Given the description of an element on the screen output the (x, y) to click on. 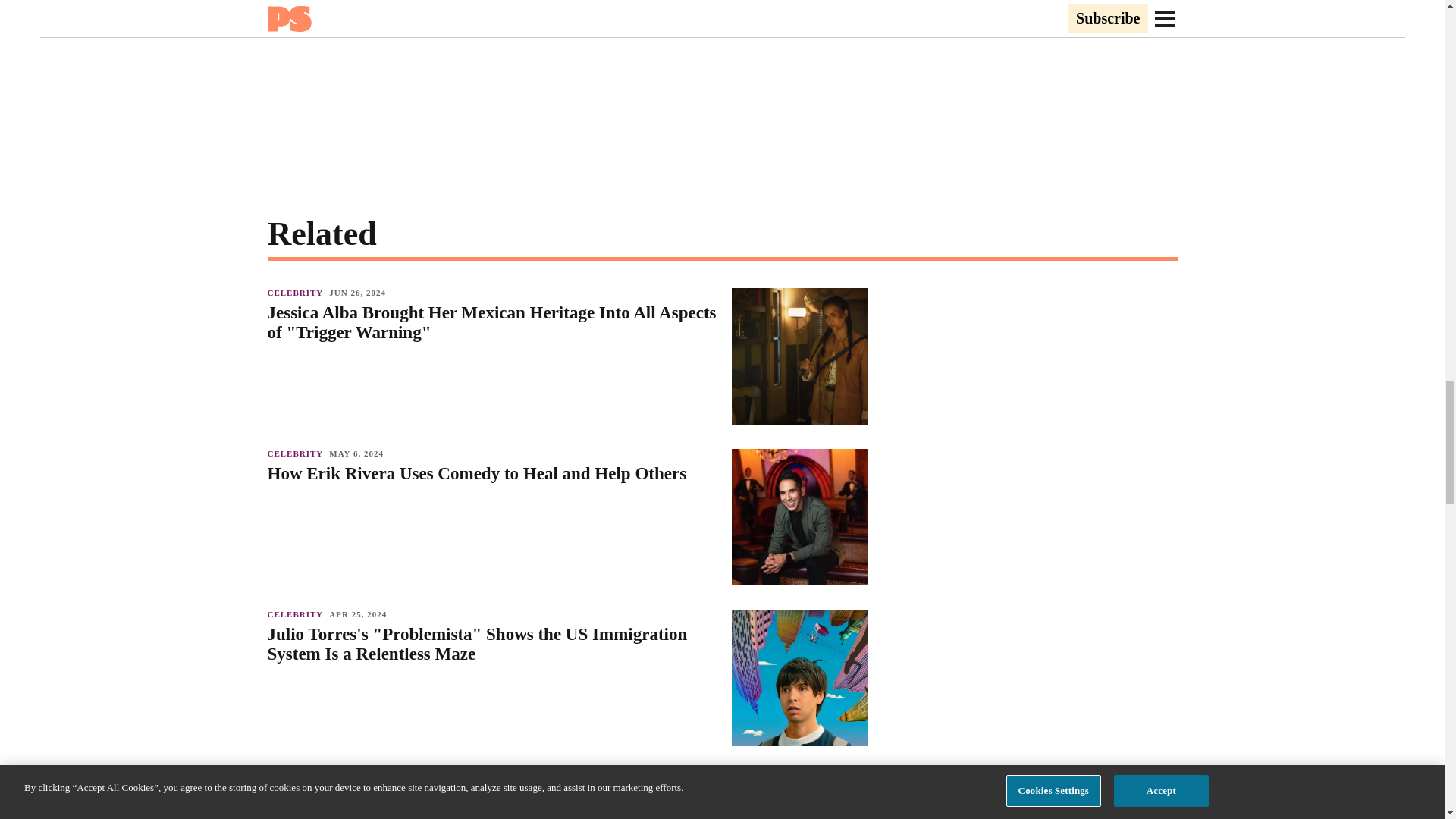
CELEBRITY (297, 292)
CELEBRITY (297, 614)
How Erik Rivera Uses Comedy to Heal and Help Others (491, 474)
CELEBRITY (297, 452)
CELEBRITY (297, 774)
